Given the description of an element on the screen output the (x, y) to click on. 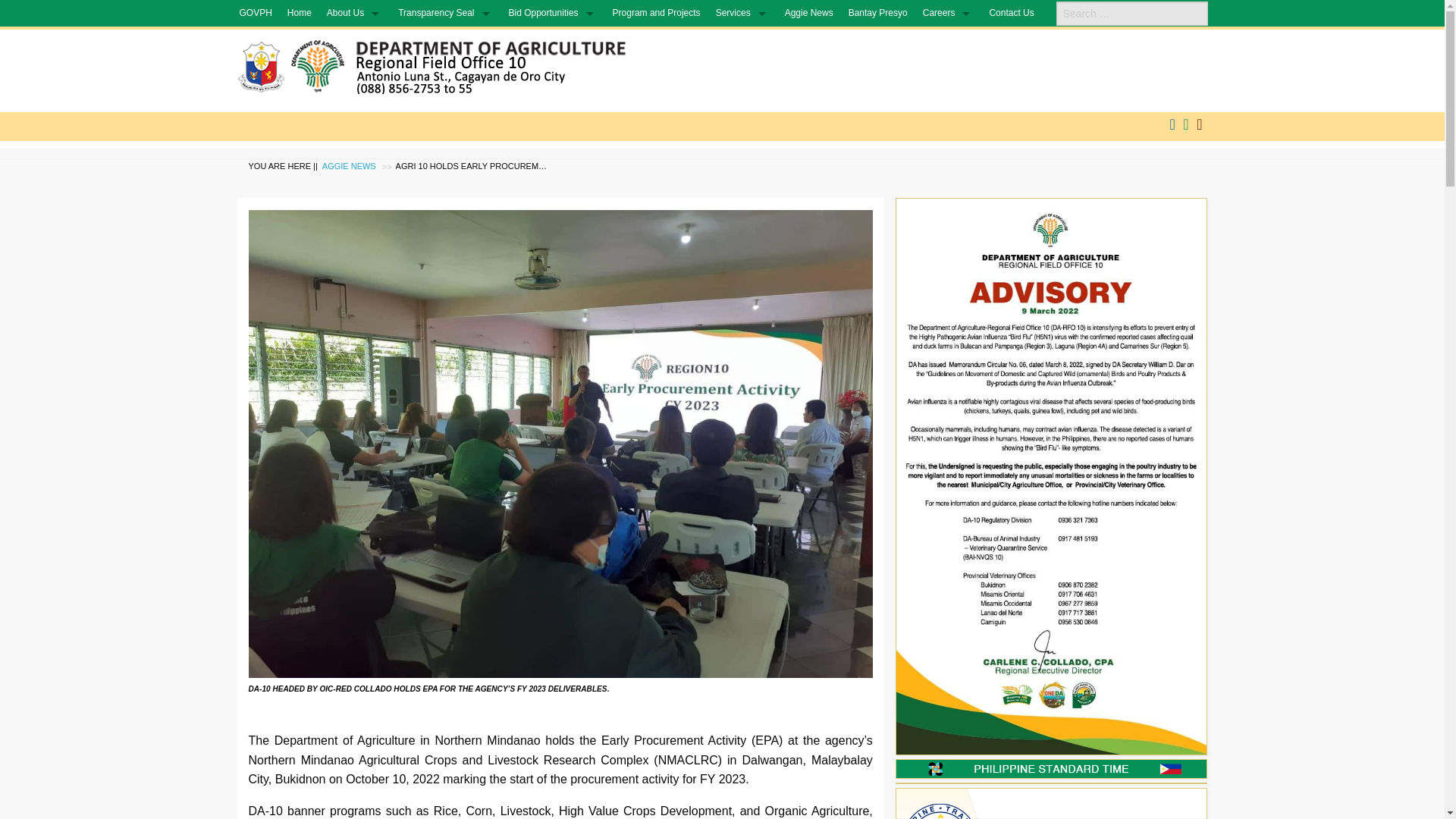
Facebook (1171, 124)
Search for: (1131, 13)
Login (1199, 124)
Mail (1185, 124)
